Given the description of an element on the screen output the (x, y) to click on. 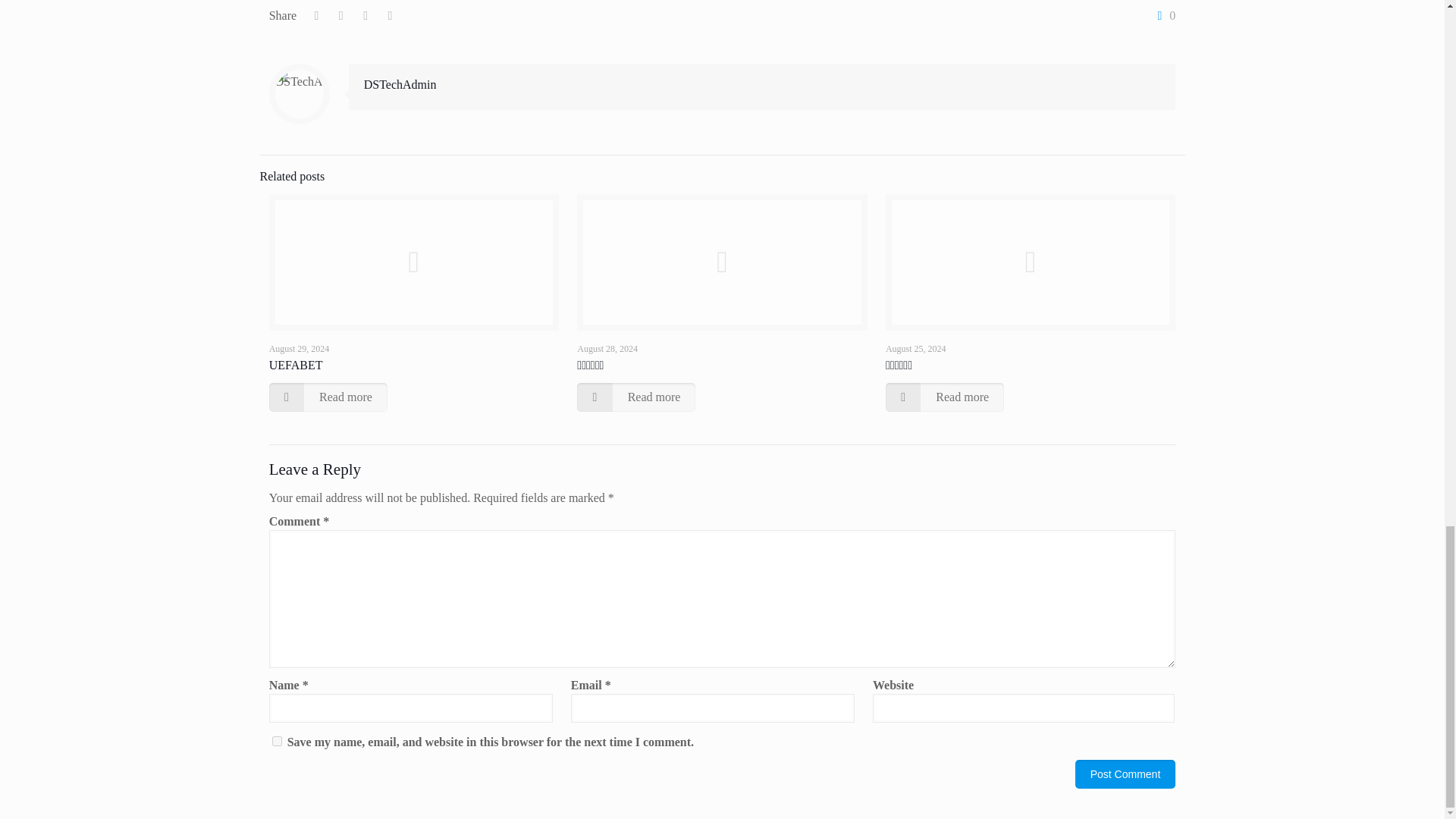
Read more (944, 397)
Read more (635, 397)
UEFABET (296, 364)
Post Comment (1125, 774)
yes (277, 741)
Read more (328, 397)
0 (1162, 15)
Post Comment (1125, 774)
DSTechAdmin (400, 83)
